Given the description of an element on the screen output the (x, y) to click on. 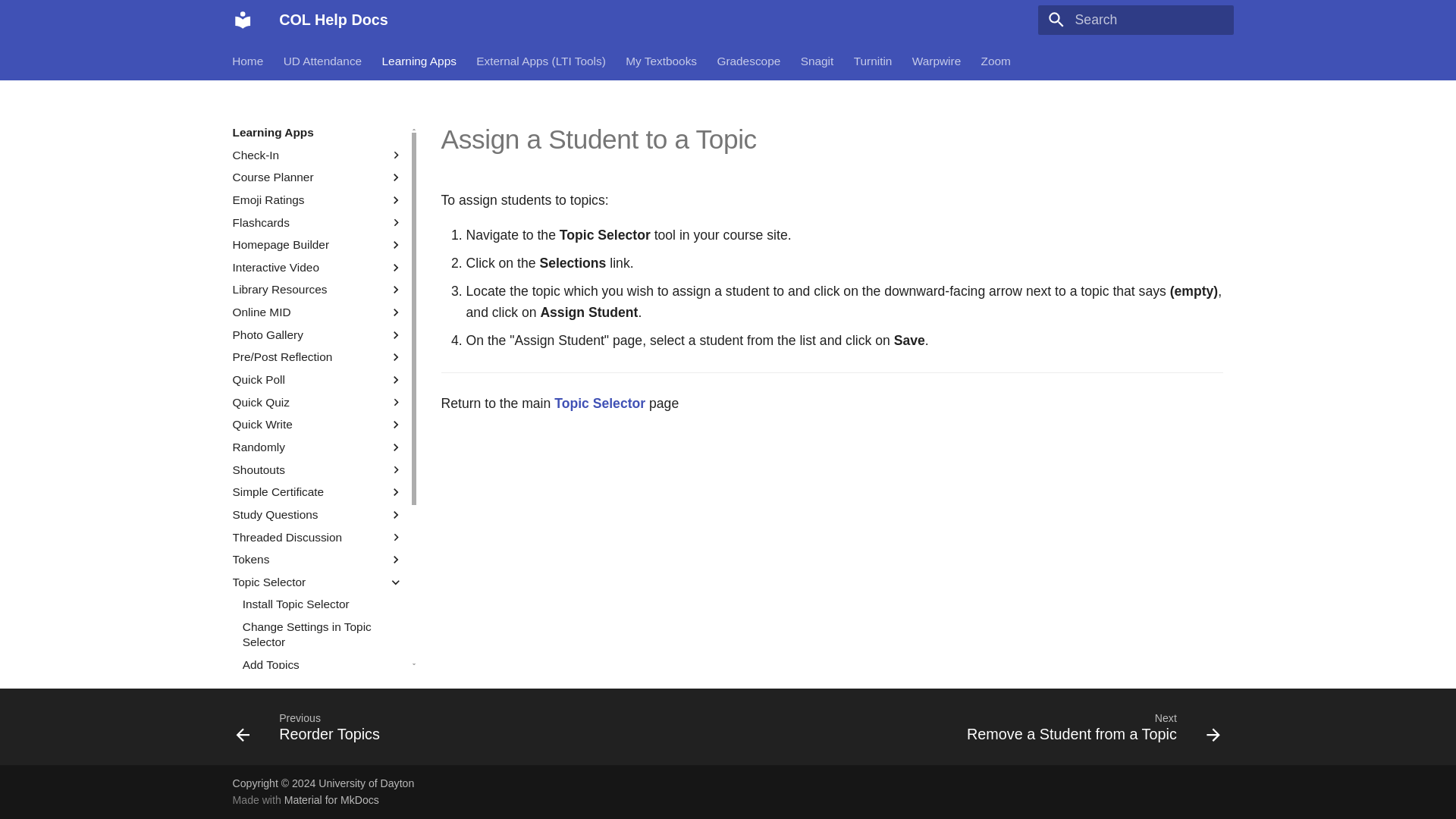
COL Help Docs (242, 19)
Turnitin (872, 60)
Home (247, 60)
Warpwire (936, 60)
Gradescope (748, 60)
Zoom (995, 60)
Learning Apps (419, 60)
UD Attendance (322, 60)
Course Planner (306, 177)
Learning Apps (317, 132)
